Given the description of an element on the screen output the (x, y) to click on. 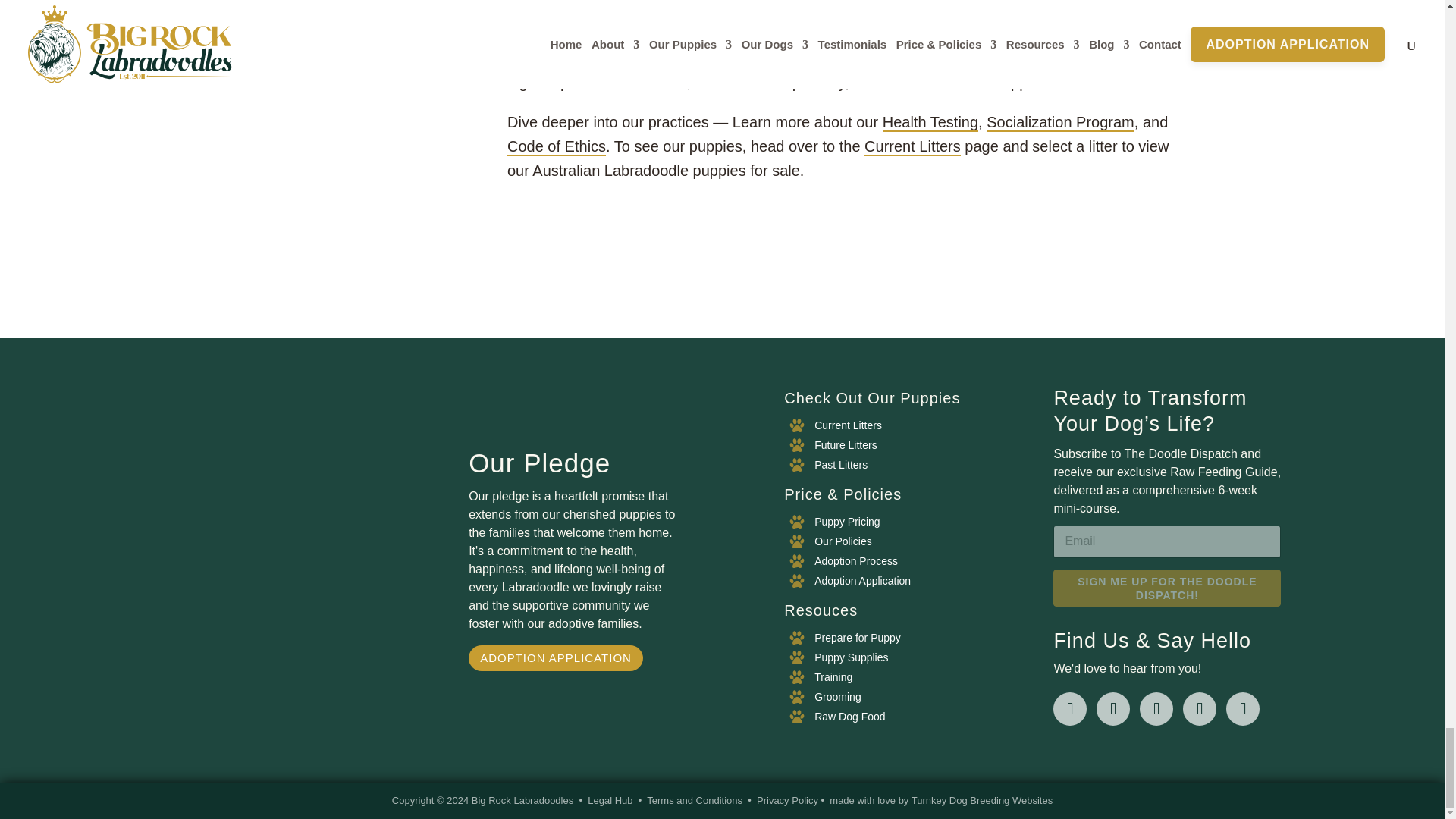
Follow on Facebook (1069, 708)
